Given the description of an element on the screen output the (x, y) to click on. 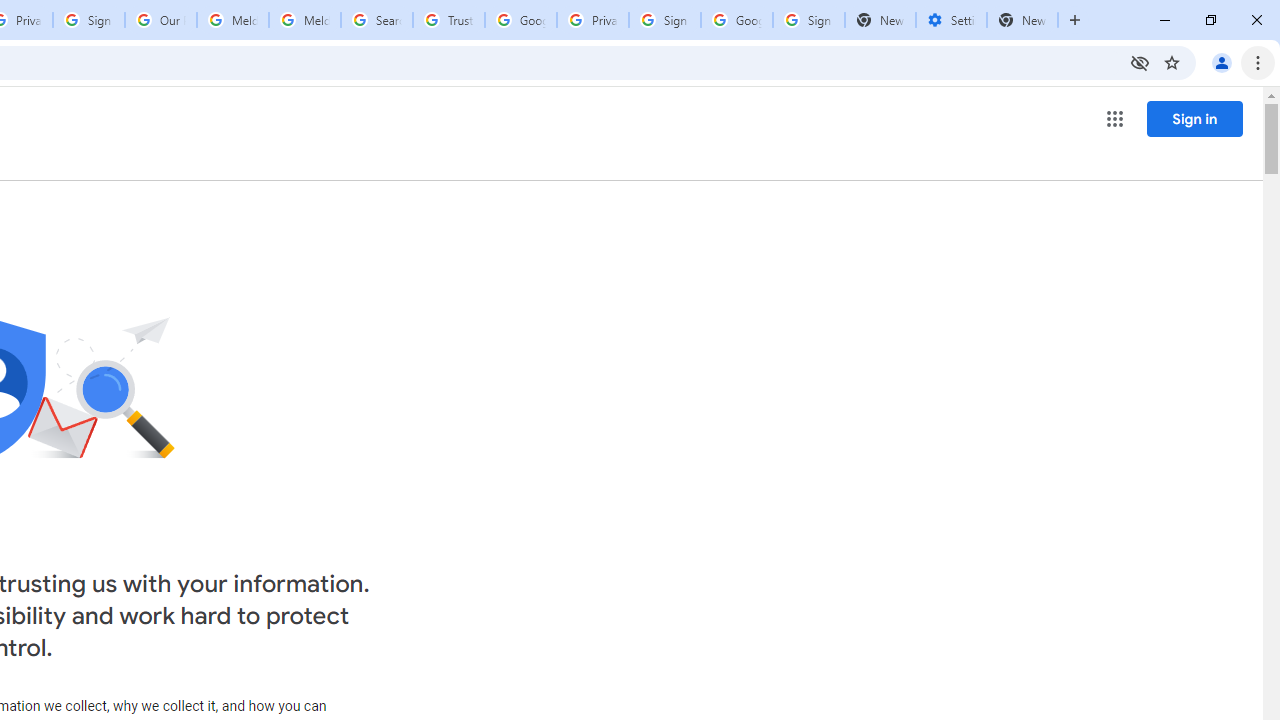
New Tab (1022, 20)
Google Ads - Sign in (520, 20)
Settings - Addresses and more (951, 20)
Google Cybersecurity Innovations - Google Safety Center (737, 20)
Sign in - Google Accounts (88, 20)
Search our Doodle Library Collection - Google Doodles (376, 20)
Sign in - Google Accounts (808, 20)
